Given the description of an element on the screen output the (x, y) to click on. 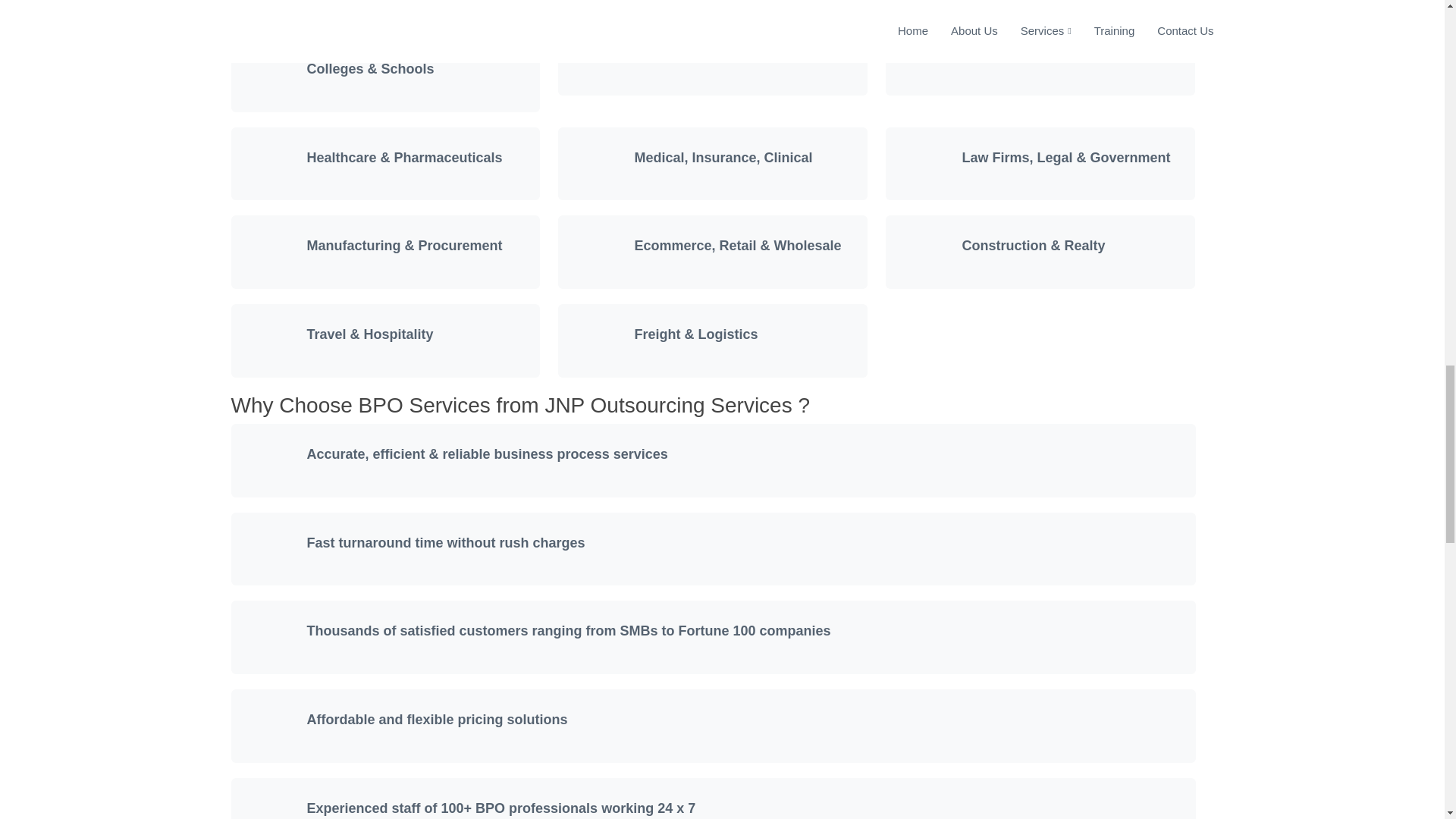
Medical, Insurance, Clinical (722, 157)
Fast turnaround time without rush charges (445, 542)
Affordable and flexible pricing solutions (436, 719)
